Given the description of an element on the screen output the (x, y) to click on. 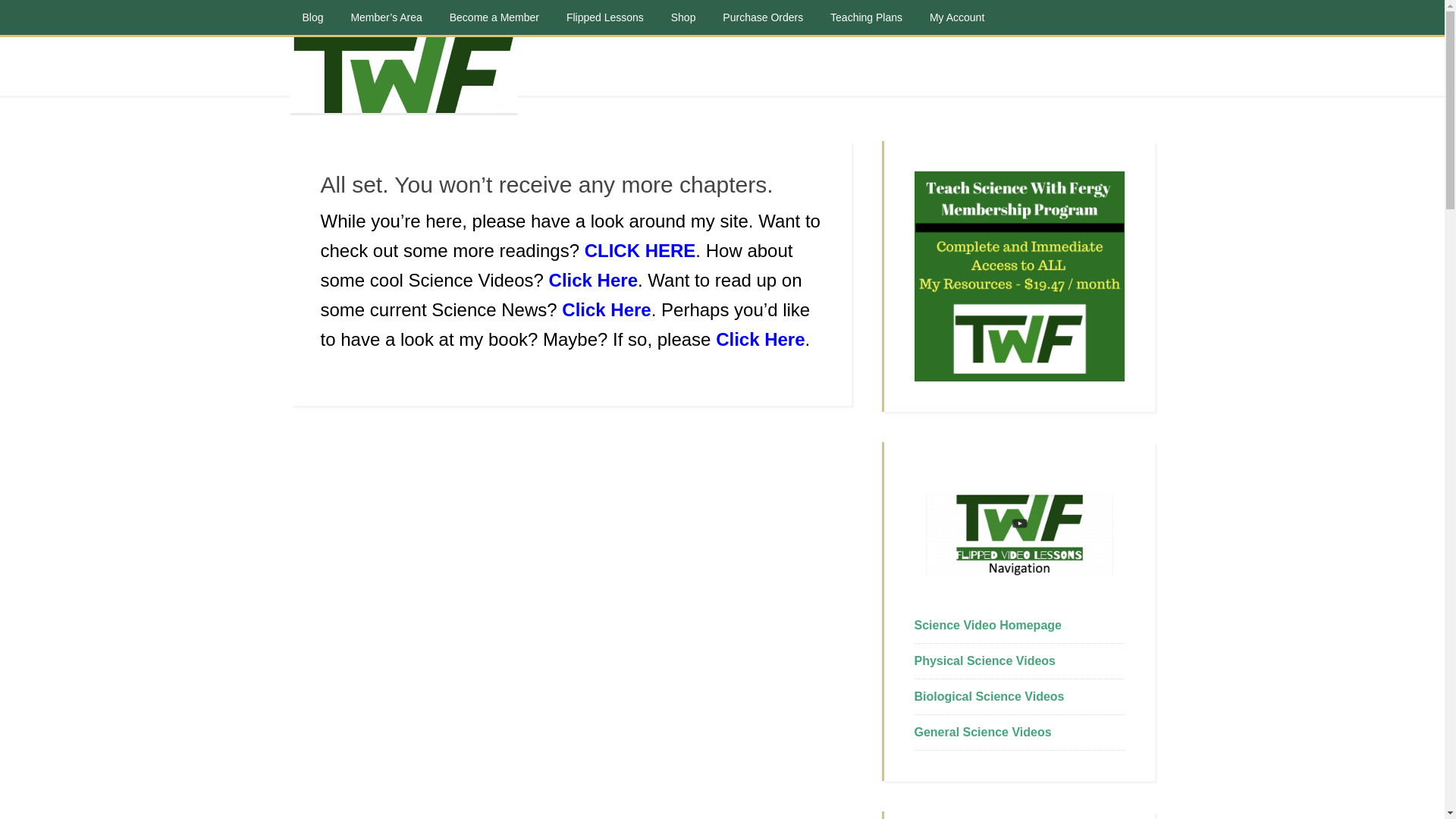
TEACH SCIENCE WITH FERGY (402, 74)
Click Here (606, 309)
Click Here (592, 280)
Become a Member (494, 17)
Blog (311, 17)
CLICK HERE (640, 250)
Teaching Plans (866, 17)
Purchase Orders (762, 17)
My Account (956, 17)
Shop (683, 17)
Flipped Lessons (605, 17)
